Given the description of an element on the screen output the (x, y) to click on. 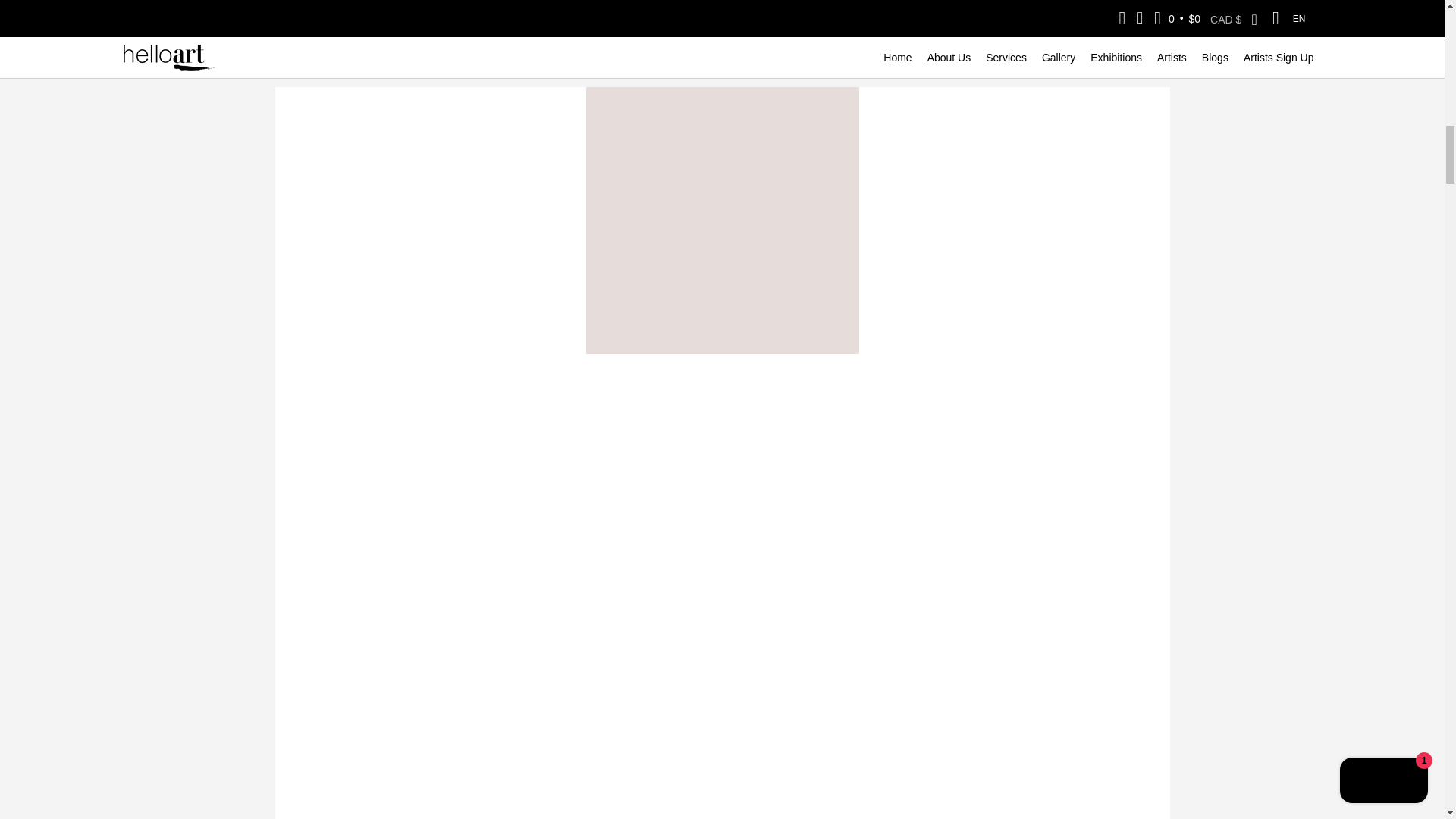
Add to Cart (721, 40)
